Given the description of an element on the screen output the (x, y) to click on. 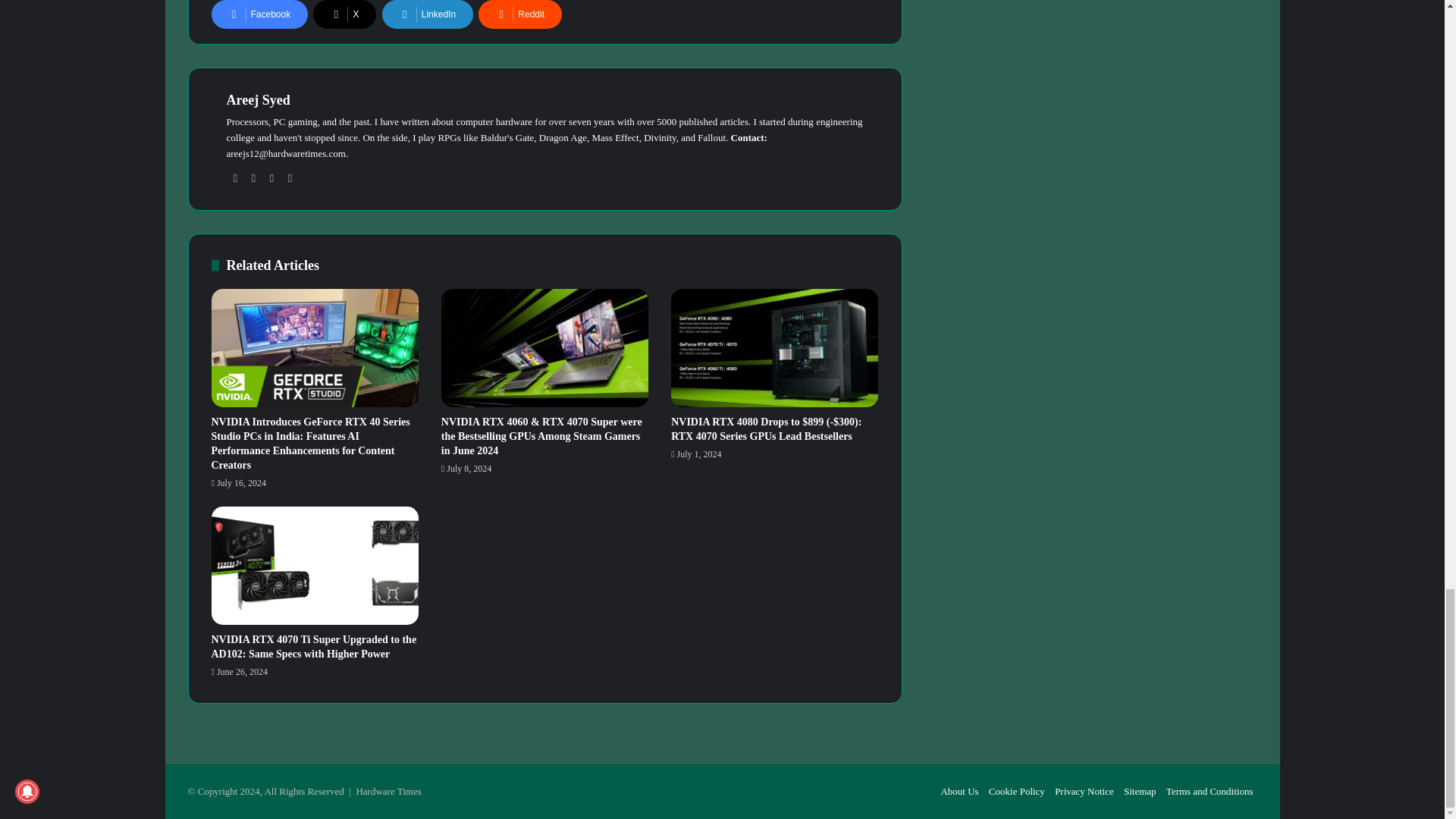
Facebook (259, 14)
X (344, 14)
LinkedIn (427, 14)
